Given the description of an element on the screen output the (x, y) to click on. 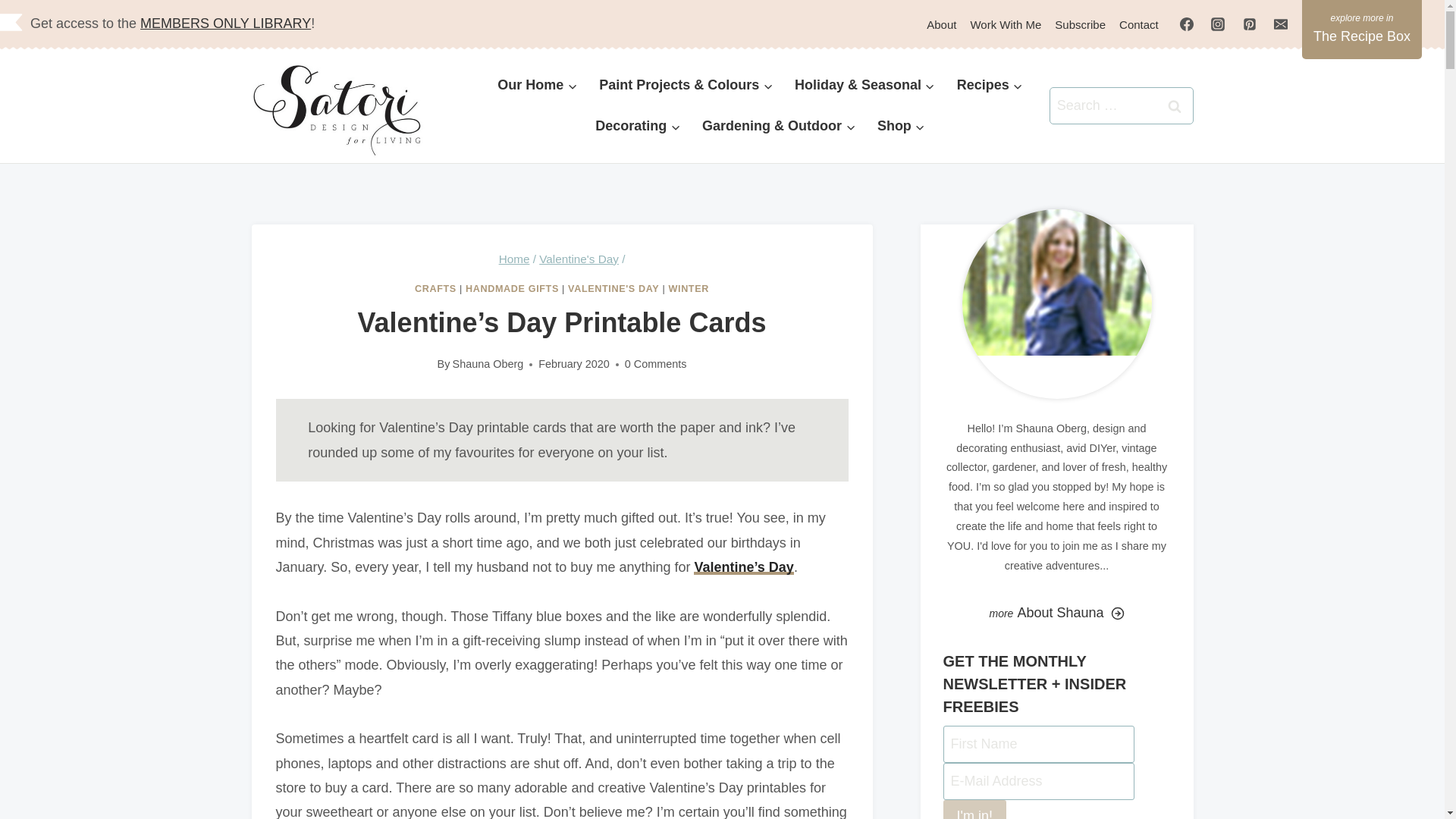
Design and Decorating Projects Around Our House (537, 85)
About (941, 24)
Recipes (988, 85)
DIY Projects and Ideas to Celebrate the Seasons (865, 85)
0 Comments (655, 364)
The Recipe Box (1361, 29)
Contact (1139, 24)
Get in touch with Satori Design for Living (1139, 24)
Wall Paint Colours, Furniture Refinishing Projects and More (686, 85)
Work With Me (1005, 24)
